Given the description of an element on the screen output the (x, y) to click on. 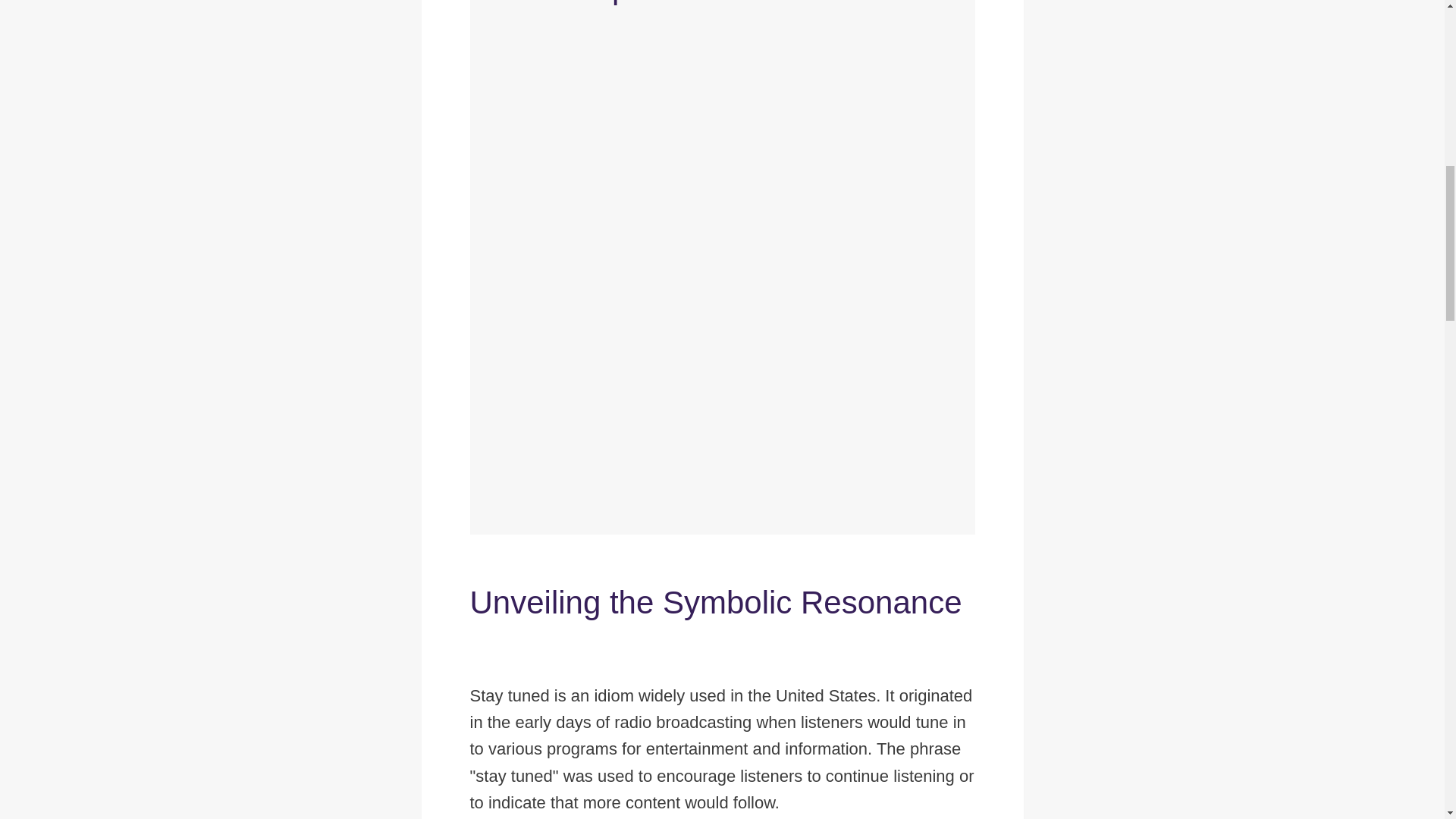
watch this space: Idiom Meaning and Origin (204, 752)
stay the distance: Idiom Meaning and Origin (205, 813)
watch this space: Idiom Meaning and Origin (721, 756)
stay the distance: Idiom Meaning and Origin (721, 811)
